Given the description of an element on the screen output the (x, y) to click on. 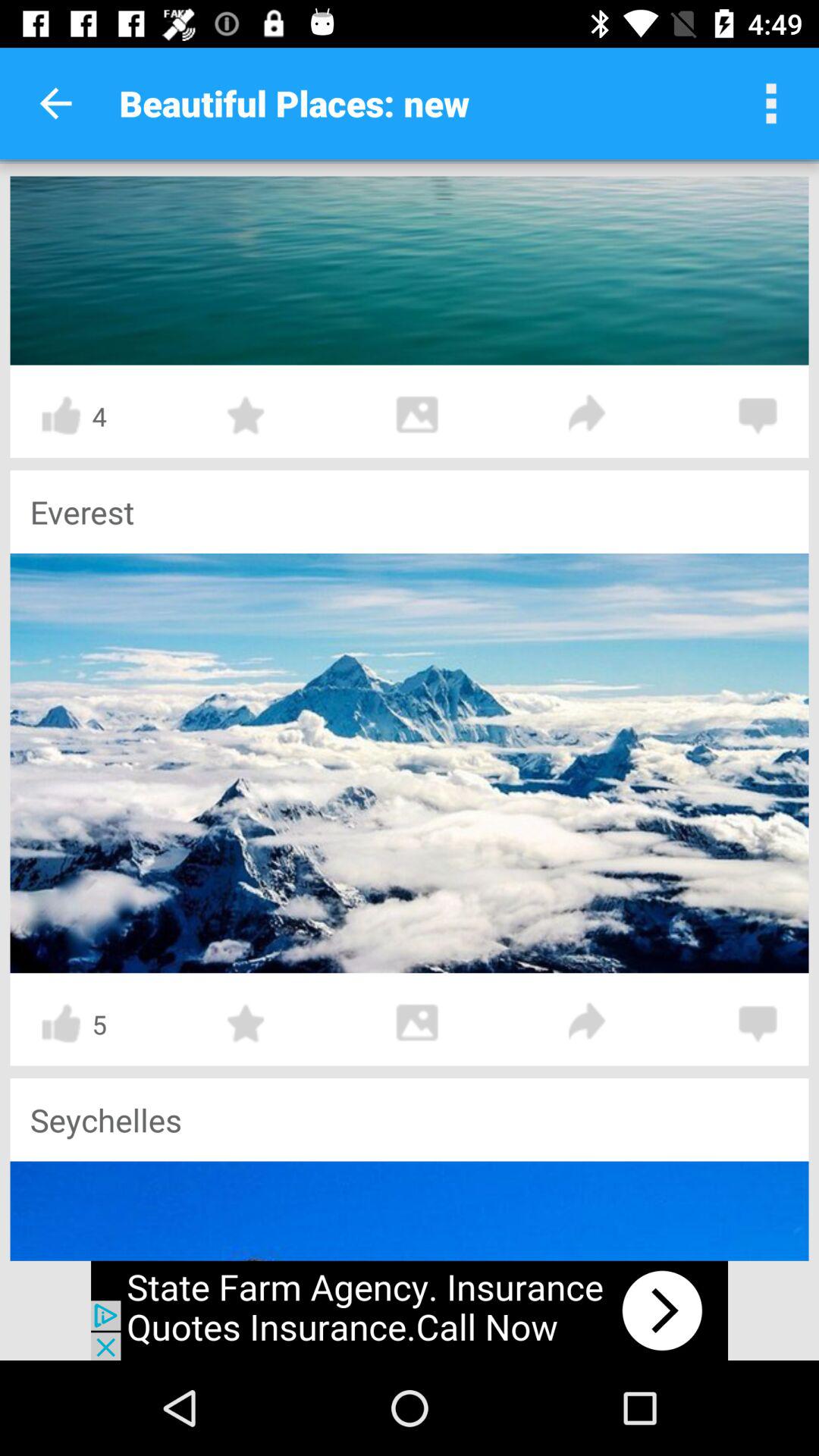
favorite this (246, 1023)
